Given the description of an element on the screen output the (x, y) to click on. 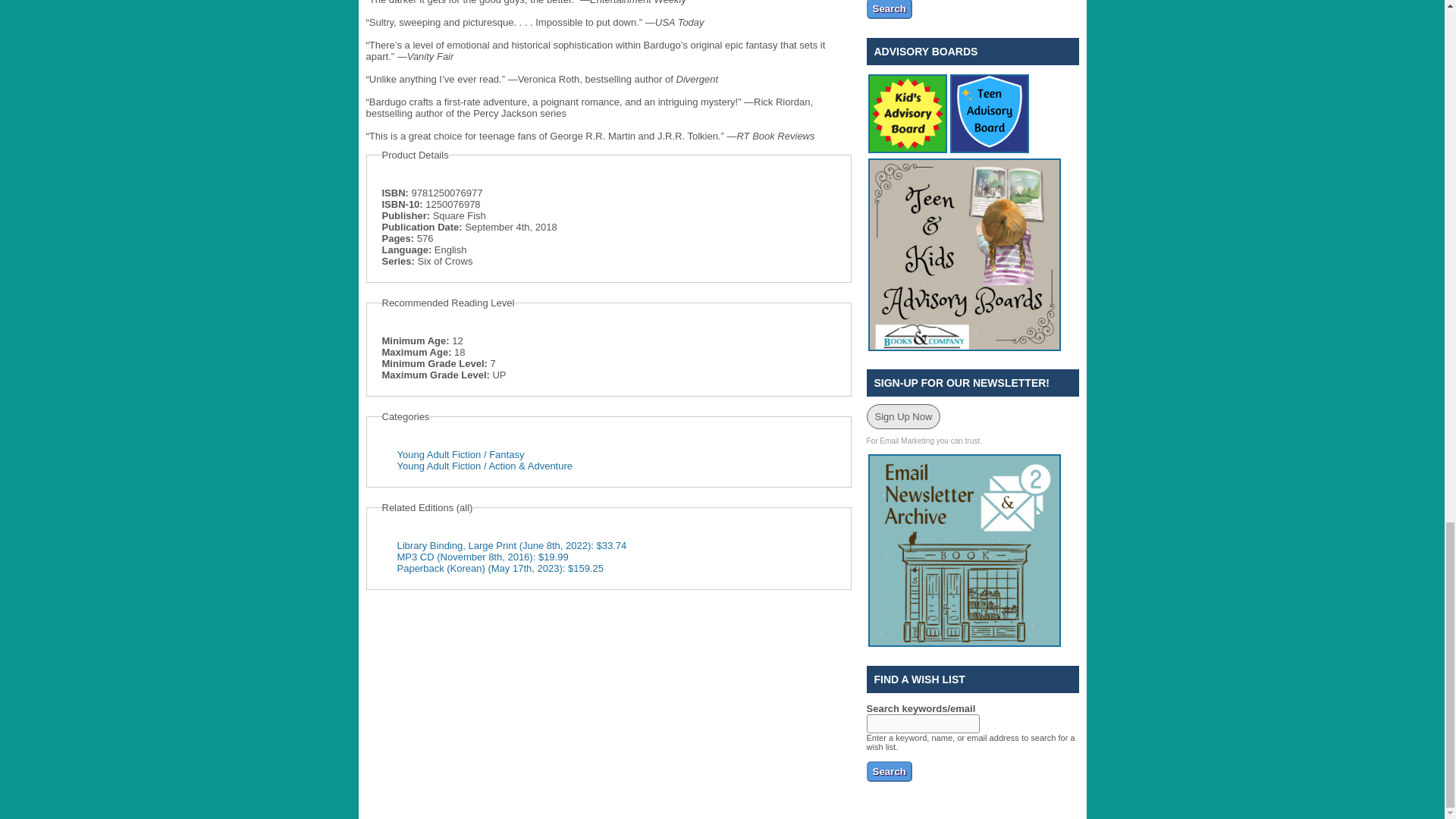
Search (888, 771)
Search (888, 9)
Search (888, 9)
